Given the description of an element on the screen output the (x, y) to click on. 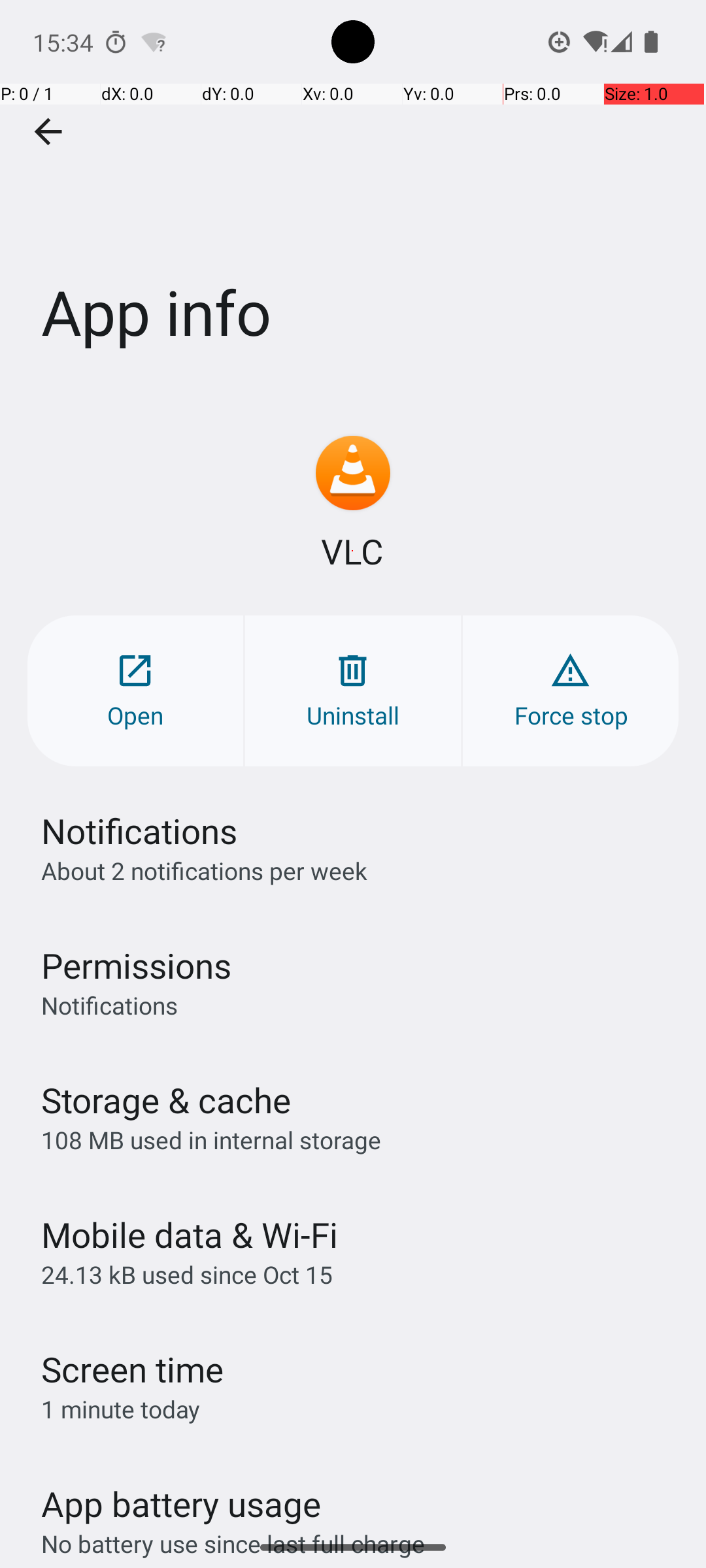
About 2 notifications per week Element type: android.widget.TextView (204, 870)
108 MB used in internal storage Element type: android.widget.TextView (211, 1139)
24.13 kB used since Oct 15 Element type: android.widget.TextView (186, 1273)
1 minute today Element type: android.widget.TextView (120, 1408)
